Given the description of an element on the screen output the (x, y) to click on. 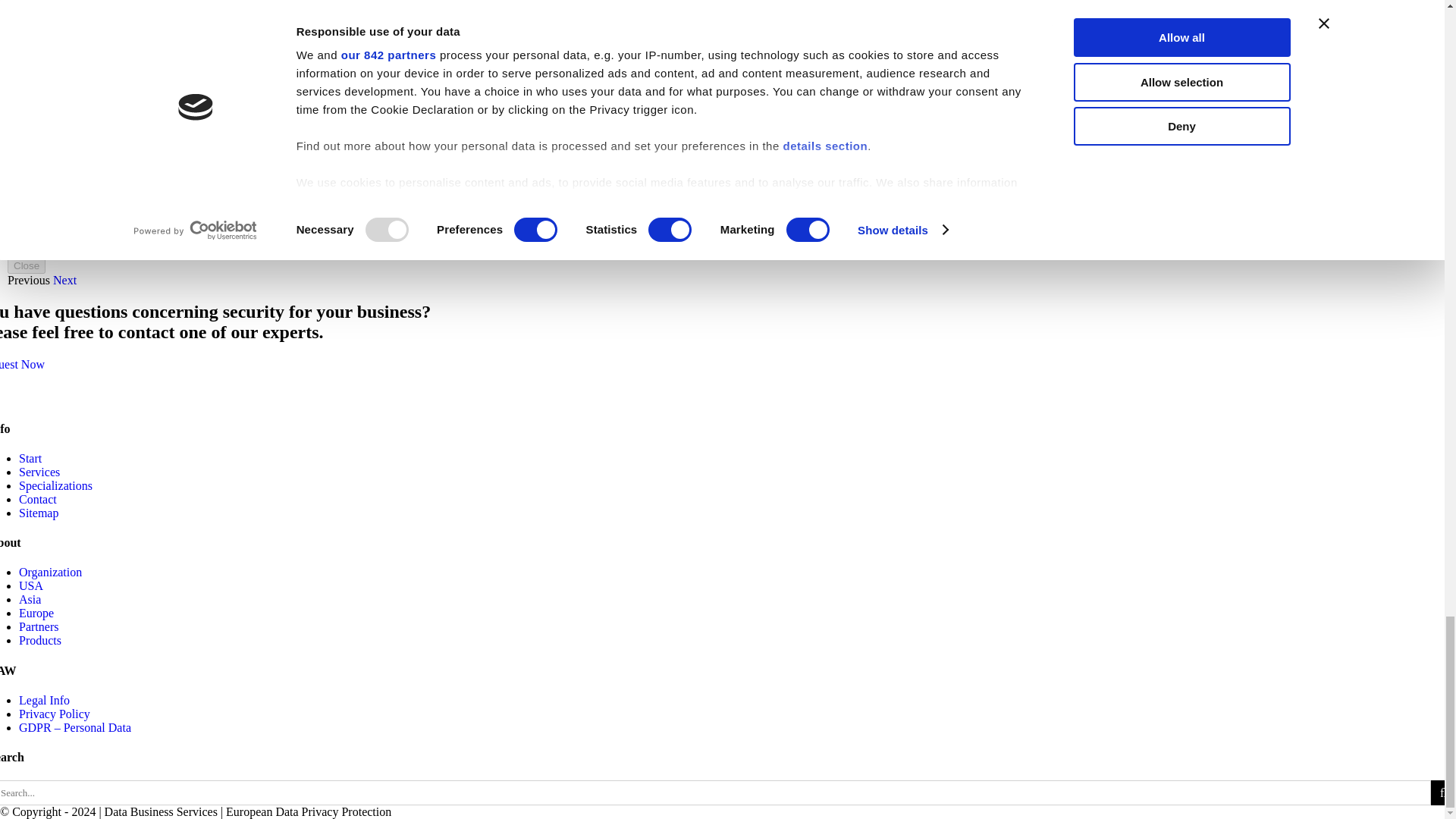
Send (23, 205)
1 (27, 91)
